Given the description of an element on the screen output the (x, y) to click on. 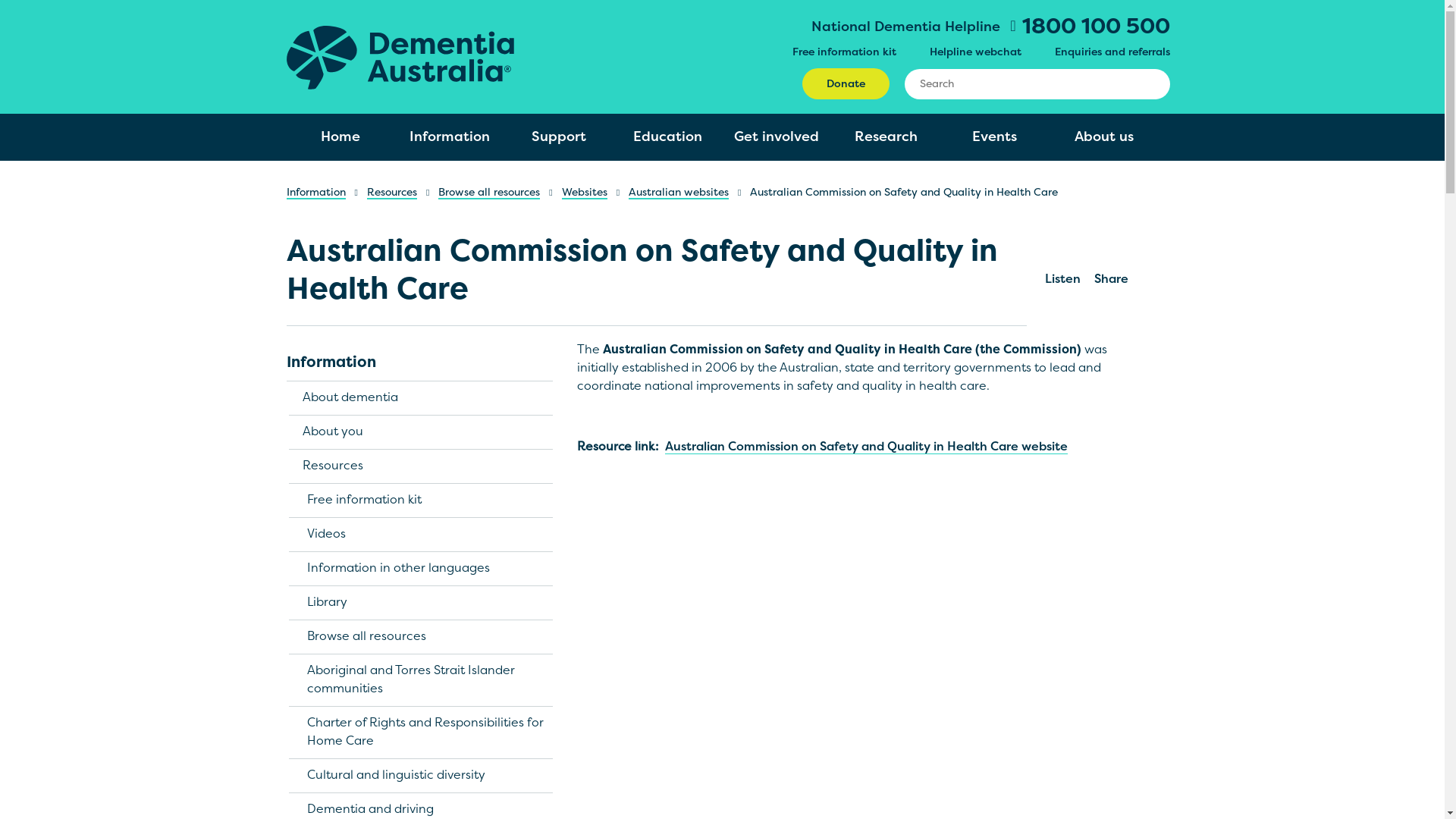
Australian websites Element type: text (678, 193)
Resources Element type: text (420, 466)
Videos Element type: text (420, 534)
Enquiries and referrals Element type: text (1111, 52)
Skip to main content Element type: text (0, 0)
Library Element type: text (420, 603)
About dementia Element type: text (420, 398)
Get involved Element type: text (776, 136)
Helpline webchat Element type: text (975, 52)
Home Element type: text (340, 136)
Education Element type: text (667, 136)
Information Element type: text (315, 193)
National Dementia Helpline Element type: text (905, 27)
Browse all resources Element type: text (420, 637)
Share Element type: text (1111, 252)
Cultural and linguistic diversity Element type: text (420, 776)
Websites Element type: text (584, 193)
Resources Element type: text (392, 193)
Donate Element type: text (845, 83)
Listen Element type: text (1062, 252)
Browse all resources Element type: text (488, 193)
About us Element type: text (1103, 136)
Research Element type: text (885, 136)
Search Element type: text (1144, 83)
Events Element type: text (994, 136)
Information in other languages Element type: text (420, 569)
Free information kit Element type: text (420, 500)
1800 100 500 Element type: text (1089, 28)
About you Element type: text (420, 432)
Information Element type: text (449, 136)
Home Element type: hover (400, 56)
Free information kit Element type: text (843, 52)
Support Element type: text (558, 136)
Aboriginal and Torres Strait Islander communities Element type: text (420, 680)
Information Element type: text (419, 364)
Charter of Rights and Responsibilities for Home Care Element type: text (420, 732)
